Given the description of an element on the screen output the (x, y) to click on. 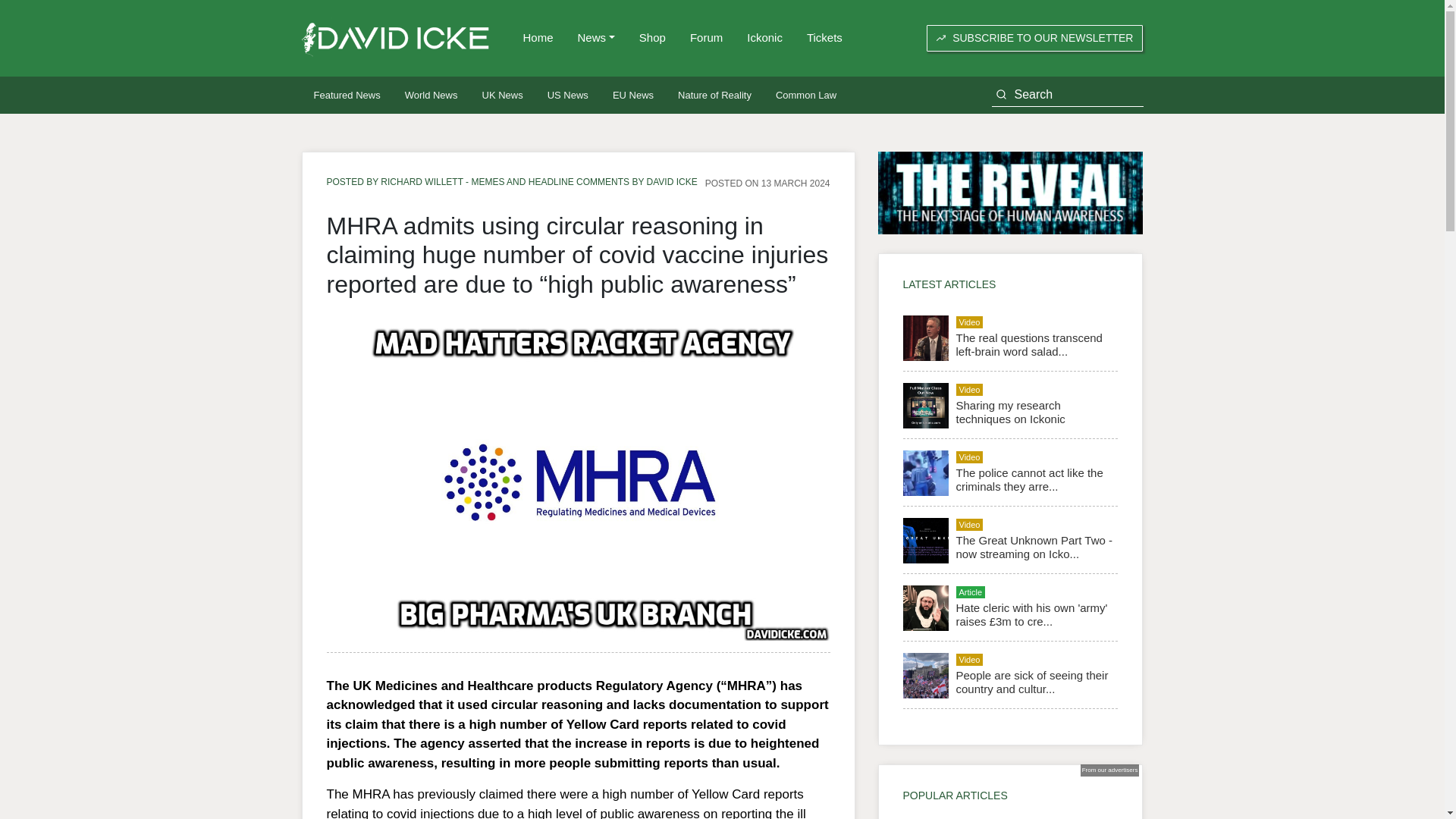
POSTED ON 13 MARCH 2024 (766, 182)
The Great Unknown Part Two - now streaming on Ickonic (1033, 546)
Ickonic (764, 37)
Sharing my research techniques on Ickonic (1009, 411)
Forum (706, 37)
Featured News (347, 94)
Nature of Reality (713, 94)
World News (431, 94)
US News (567, 94)
News (596, 37)
Common Law (805, 94)
SUBSCRIBE TO OUR NEWSLETTER (1034, 38)
Home (538, 37)
